Given the description of an element on the screen output the (x, y) to click on. 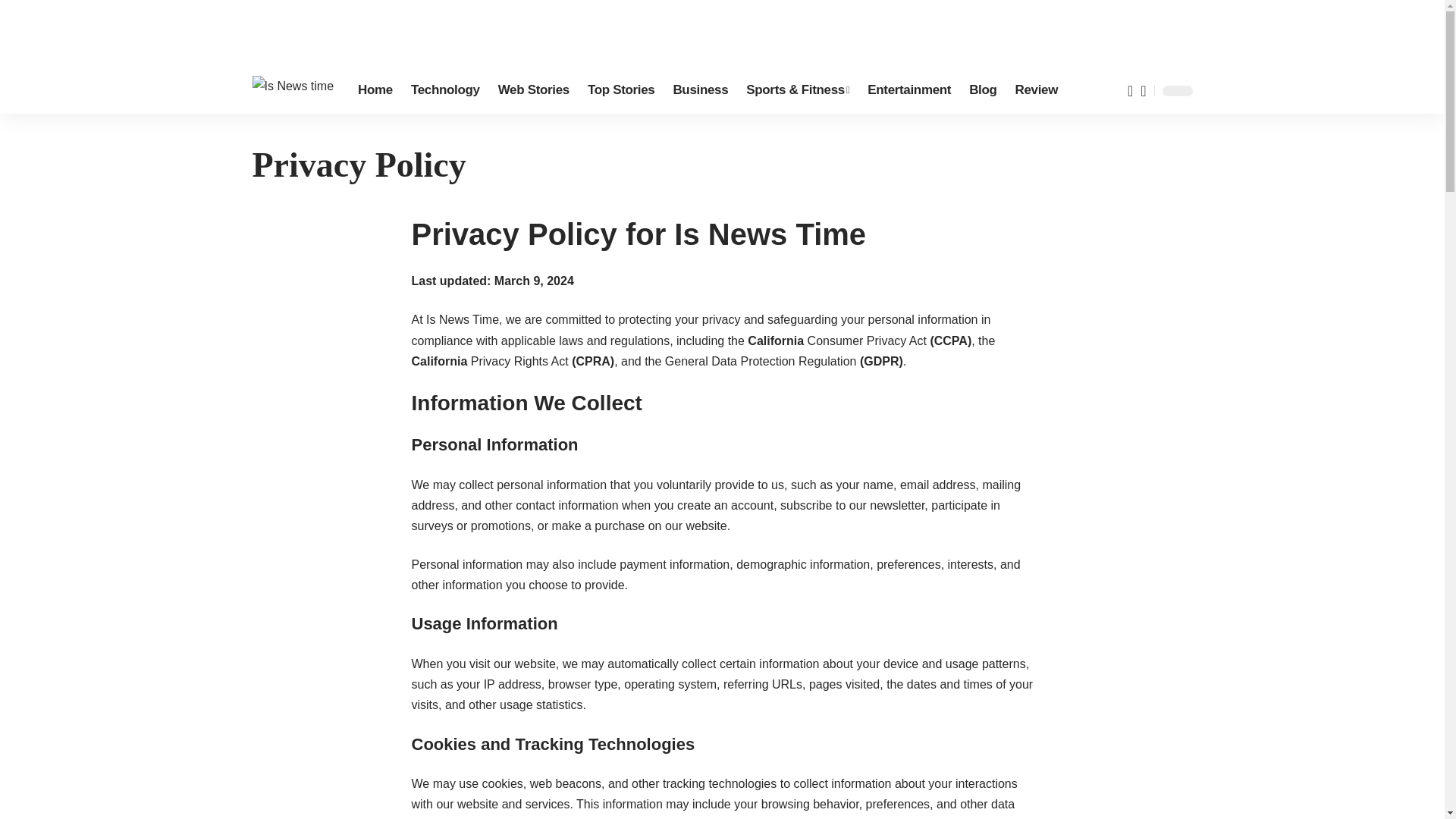
Blog (982, 90)
Top Stories (620, 90)
Is News time (292, 91)
Business (699, 90)
Home (375, 90)
Review (1036, 90)
Technology (445, 90)
Web Stories (533, 90)
Entertainment (909, 90)
